Given the description of an element on the screen output the (x, y) to click on. 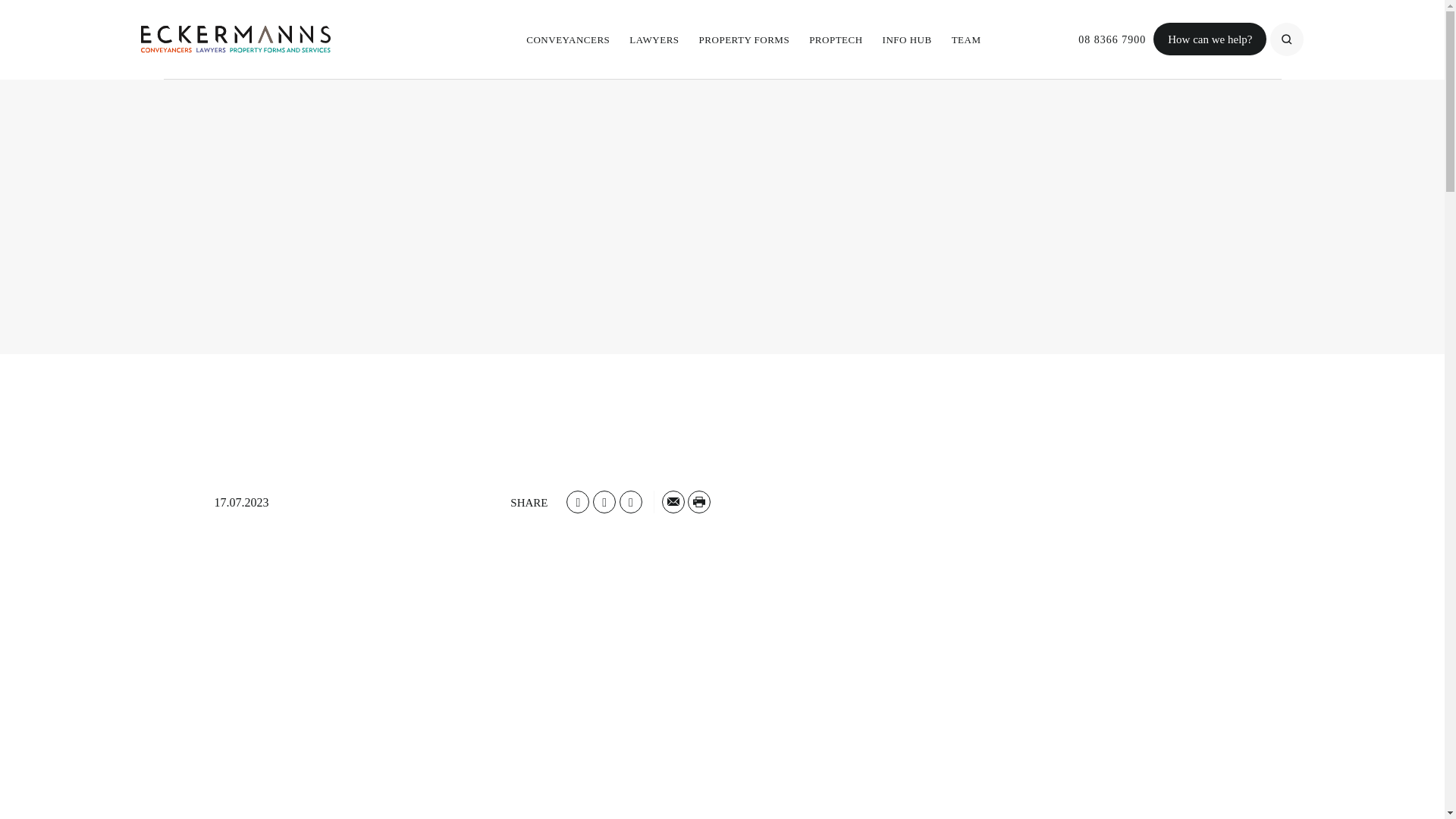
CONVEYANCERS (567, 39)
Tweet this! (603, 501)
Share on Facebook. (577, 501)
Share on LinkedIn (631, 501)
LAWYERS (653, 39)
